Given the description of an element on the screen output the (x, y) to click on. 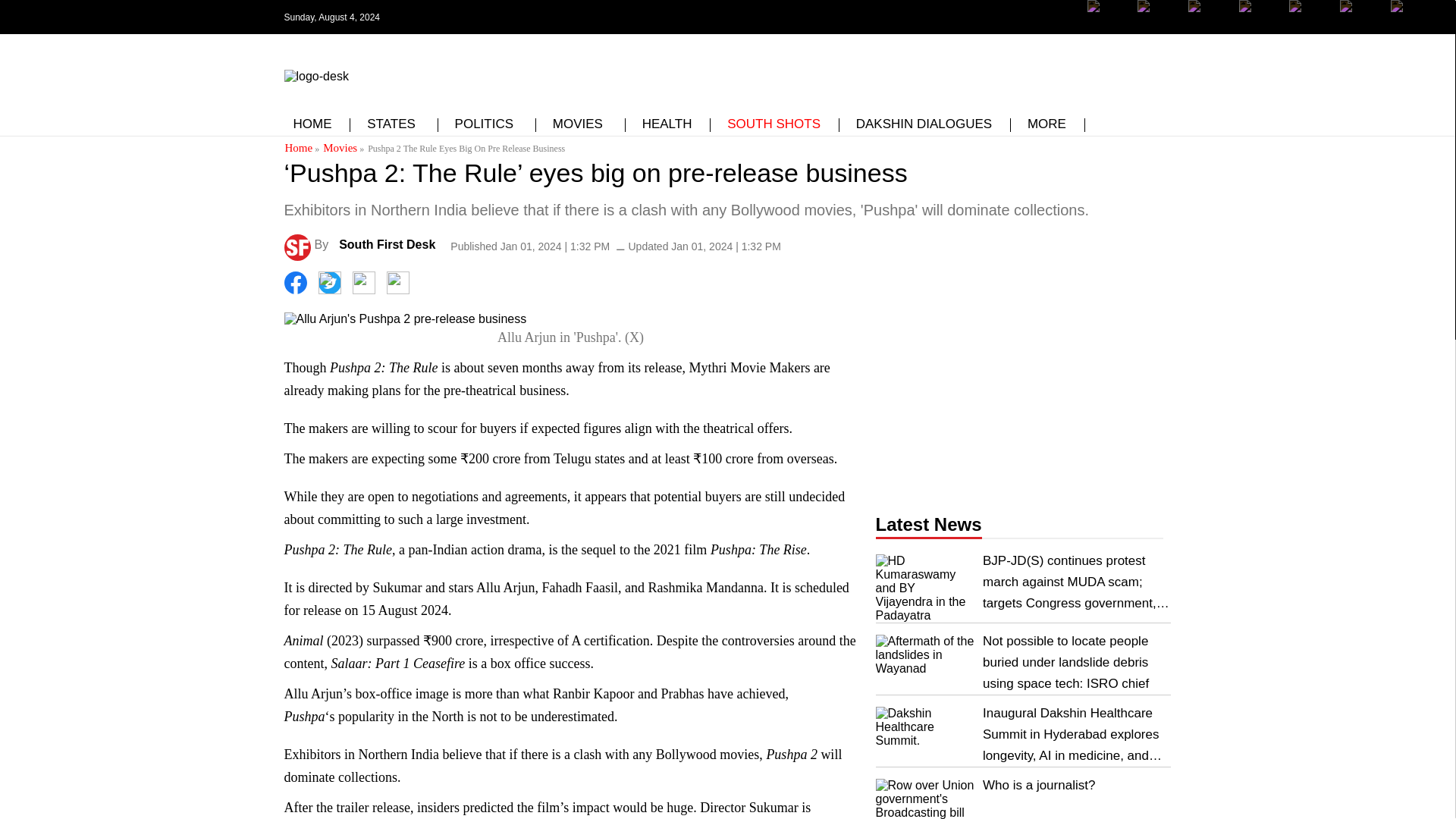
SouthFirst youtube (1260, 16)
SouthFirst twitter (1158, 27)
SouthFirst facebook (1108, 16)
SouthFirst twitter (1158, 16)
SouthFirst facebook (1108, 27)
logo-desk (315, 76)
logo (315, 72)
SouthFirst youtube (1309, 16)
SouthFirst youtube (1260, 27)
SouthFirst instagram (1209, 27)
SouthFirst youtube (1309, 27)
SouthFirst instagram (1209, 16)
